Given the description of an element on the screen output the (x, y) to click on. 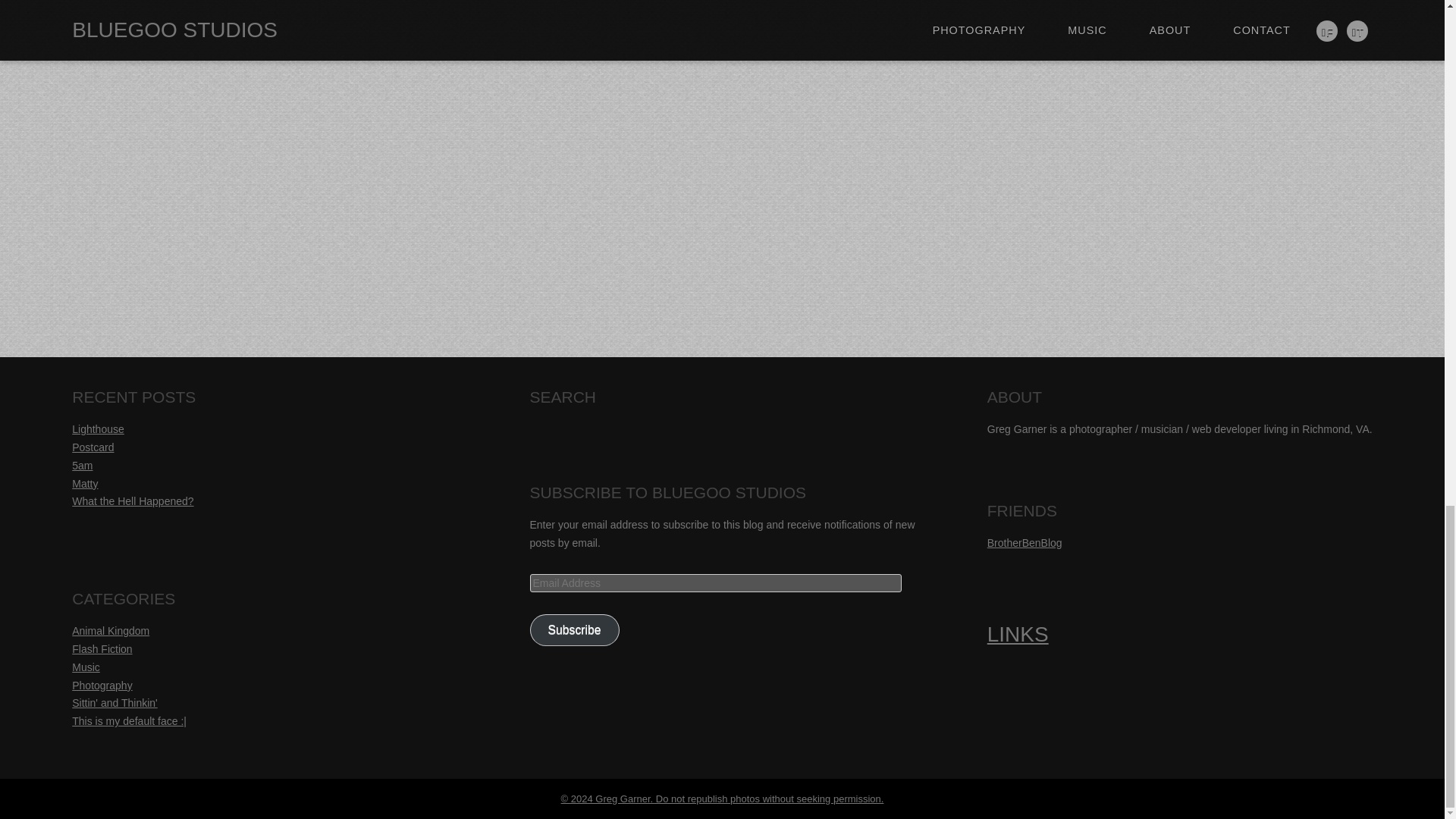
Postcard (92, 447)
BrotherBenBlog (1024, 542)
Animal Kingdom (110, 630)
What the Hell Happened? (132, 500)
Flash Fiction (101, 648)
Subscribe (573, 630)
Photography (101, 685)
Music (85, 666)
5am (82, 465)
LINKS (1017, 634)
Sittin' and Thinkin' (114, 702)
Matty (84, 483)
Lighthouse (97, 428)
